Given the description of an element on the screen output the (x, y) to click on. 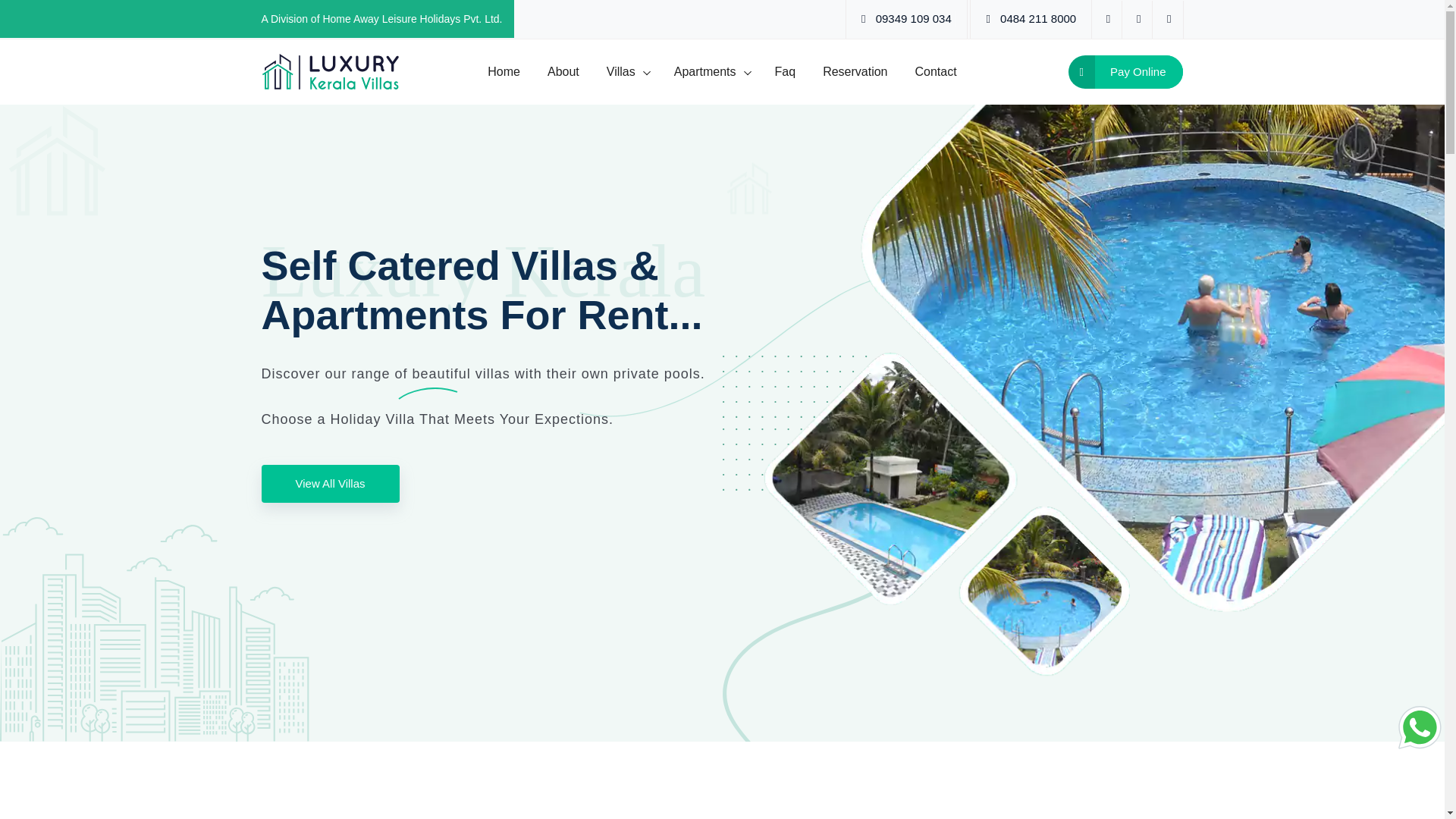
Villas (626, 71)
Reservation (855, 71)
Contact (936, 71)
Apartments (711, 71)
About (563, 71)
Home (504, 71)
Pay Online (1125, 71)
0484 211 8000 (1037, 18)
09349 109 034 (914, 18)
